Given the description of an element on the screen output the (x, y) to click on. 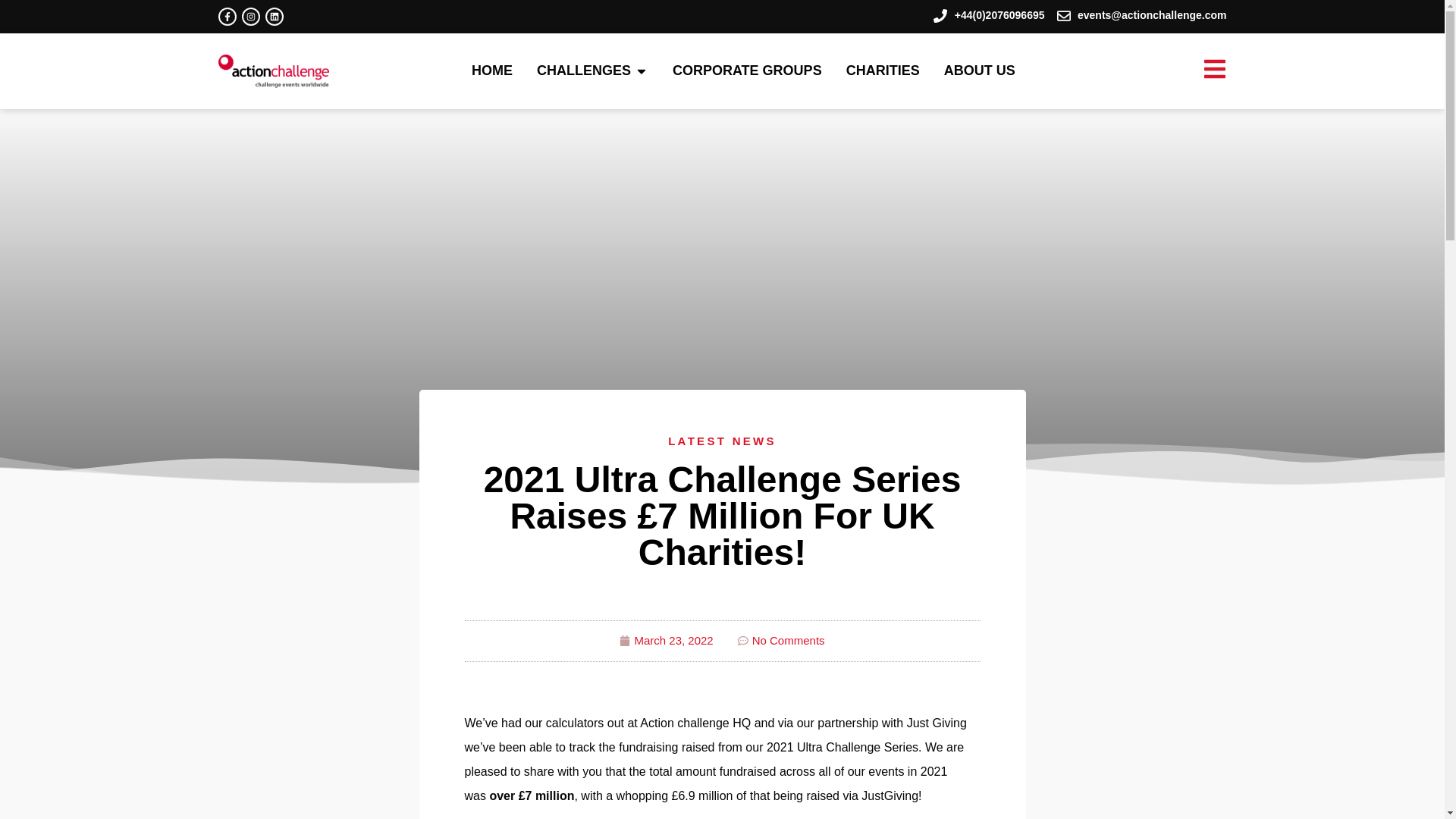
HOME (491, 70)
ABOUT US (978, 70)
CORPORATE GROUPS (747, 70)
CHARITIES (882, 70)
